Given the description of an element on the screen output the (x, y) to click on. 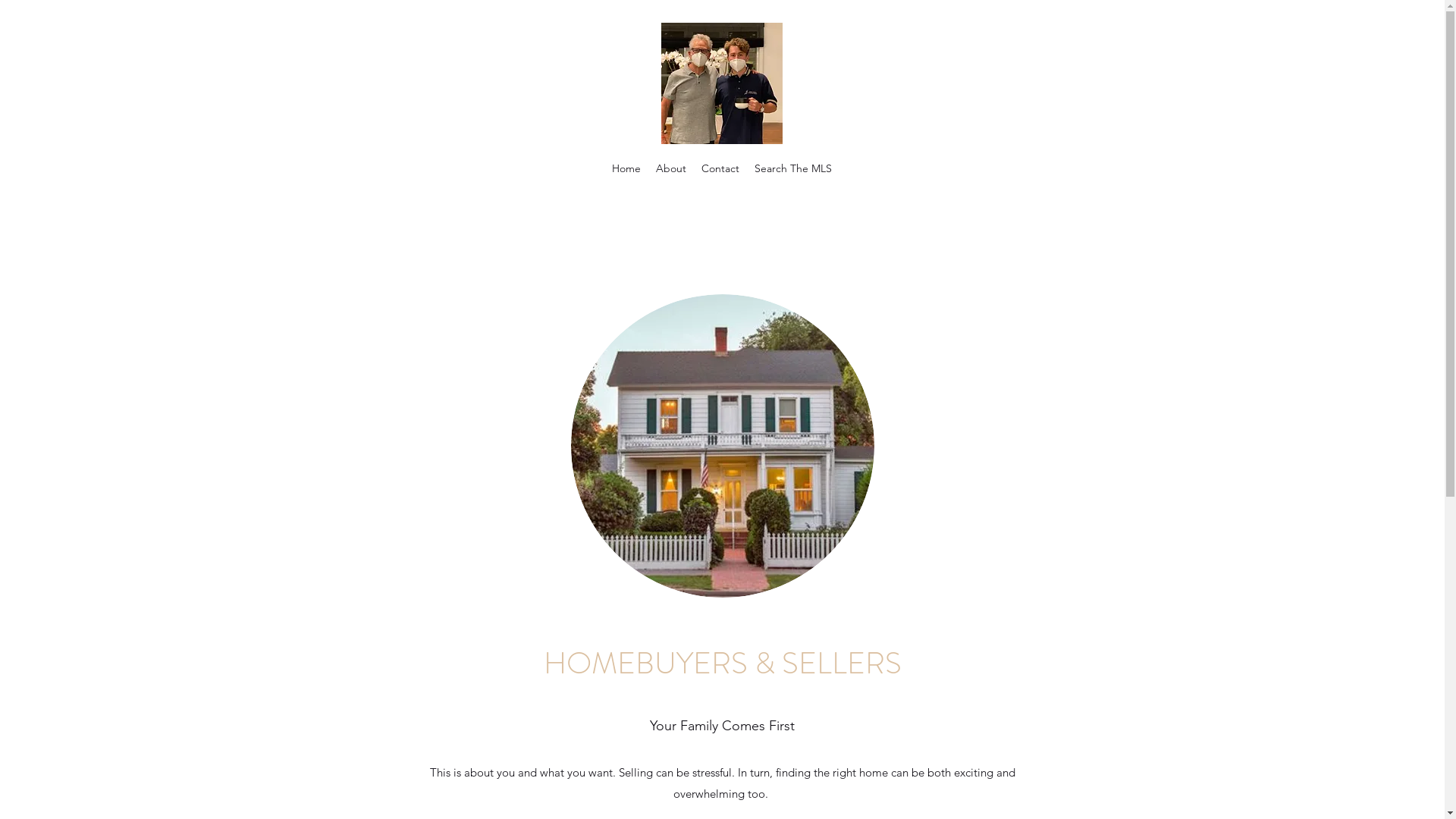
Search The MLS Element type: text (792, 168)
Contact Element type: text (719, 168)
Home Element type: text (626, 168)
About Element type: text (670, 168)
